Given the description of an element on the screen output the (x, y) to click on. 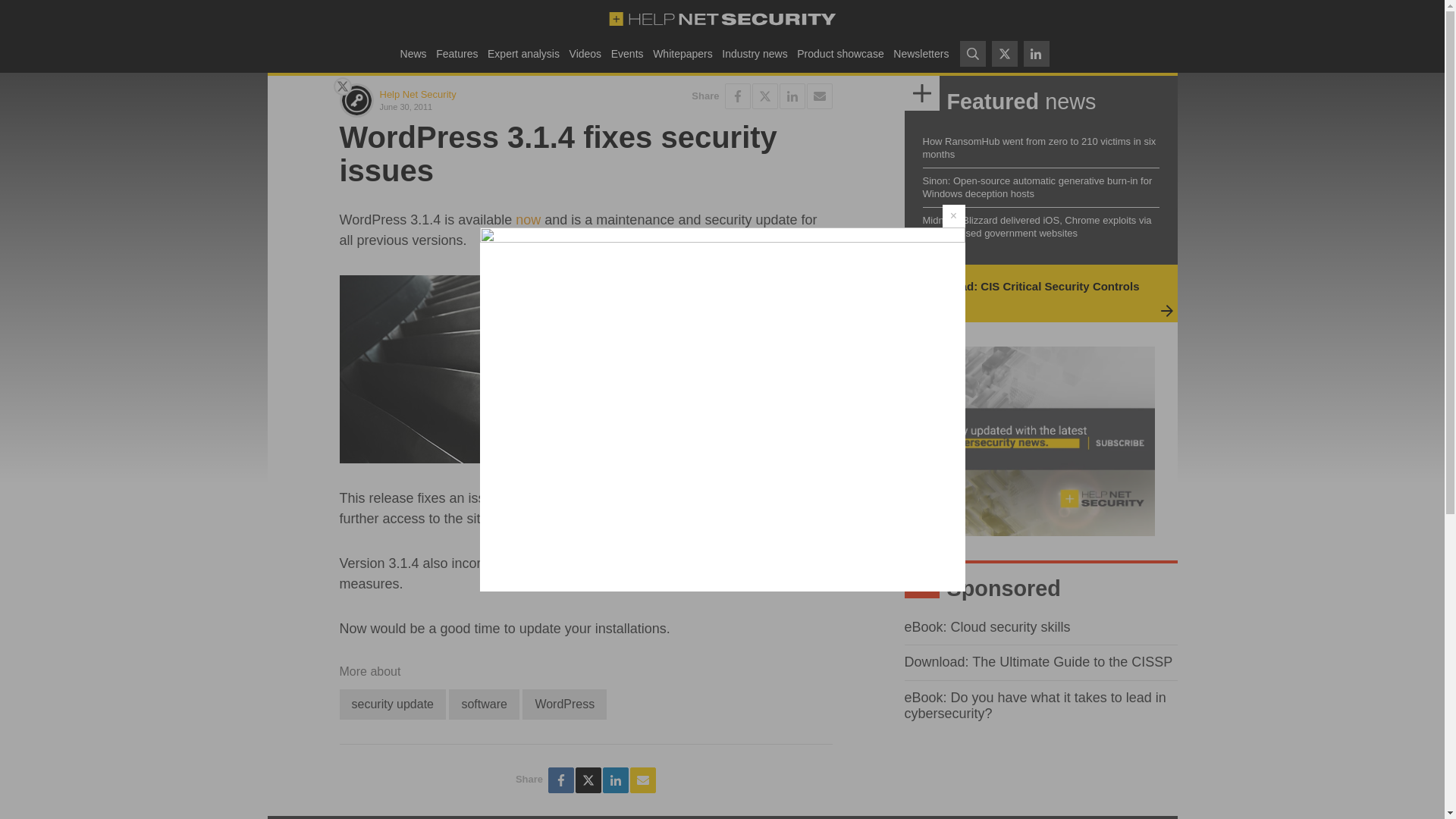
News (412, 53)
Industry news (754, 53)
Videos (584, 53)
eBook: Cloud security skills (987, 626)
Share WordPress 3.1.4 fixes security issues on Twitter (588, 780)
eBook: Do you have what it takes to lead in cybersecurity? (1035, 705)
now (527, 219)
Share WordPress 3.1.4 fixes security issues via E-mail (819, 95)
